Given the description of an element on the screen output the (x, y) to click on. 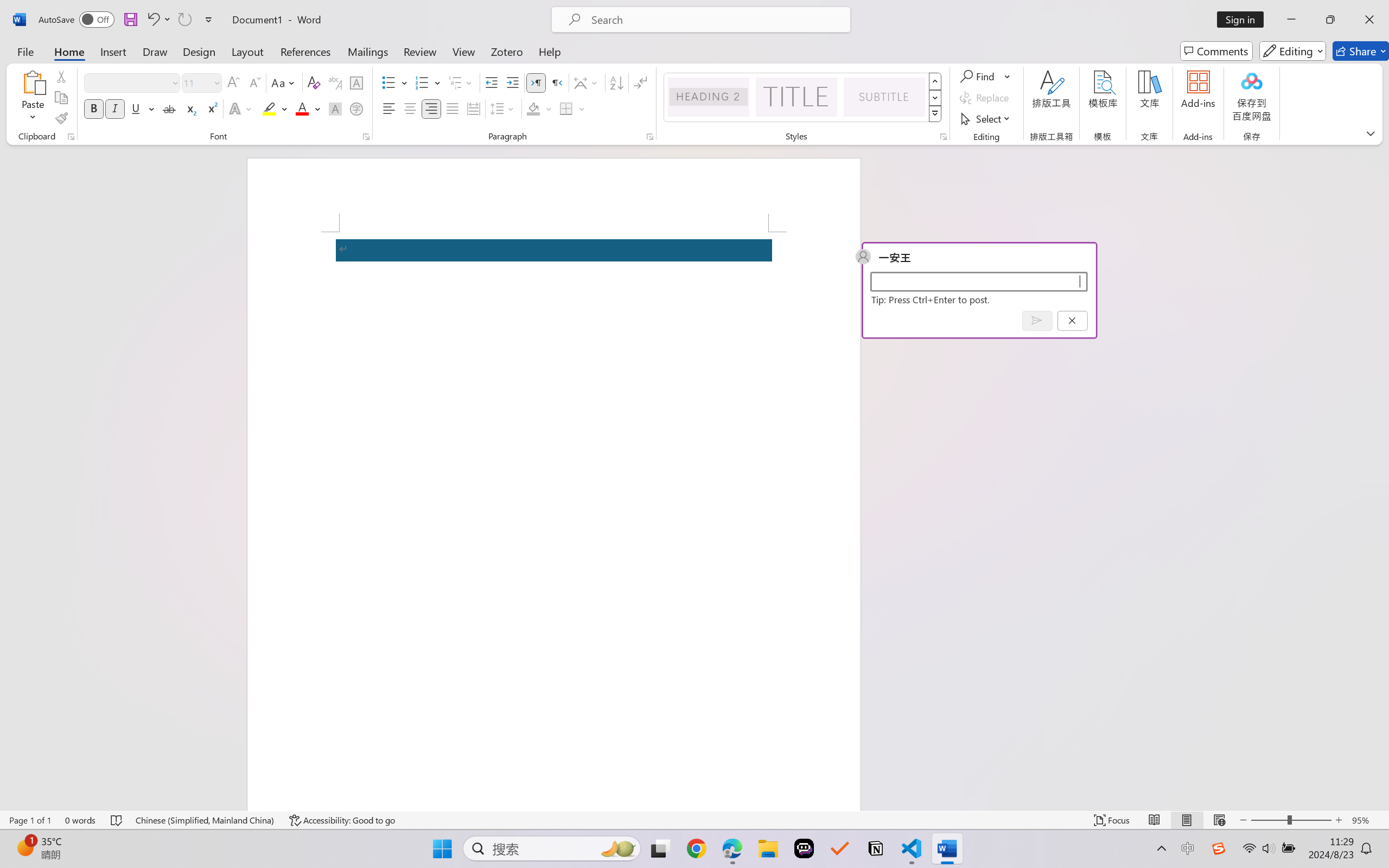
Start a conversation (978, 281)
Shading No Color (533, 108)
